Given the description of an element on the screen output the (x, y) to click on. 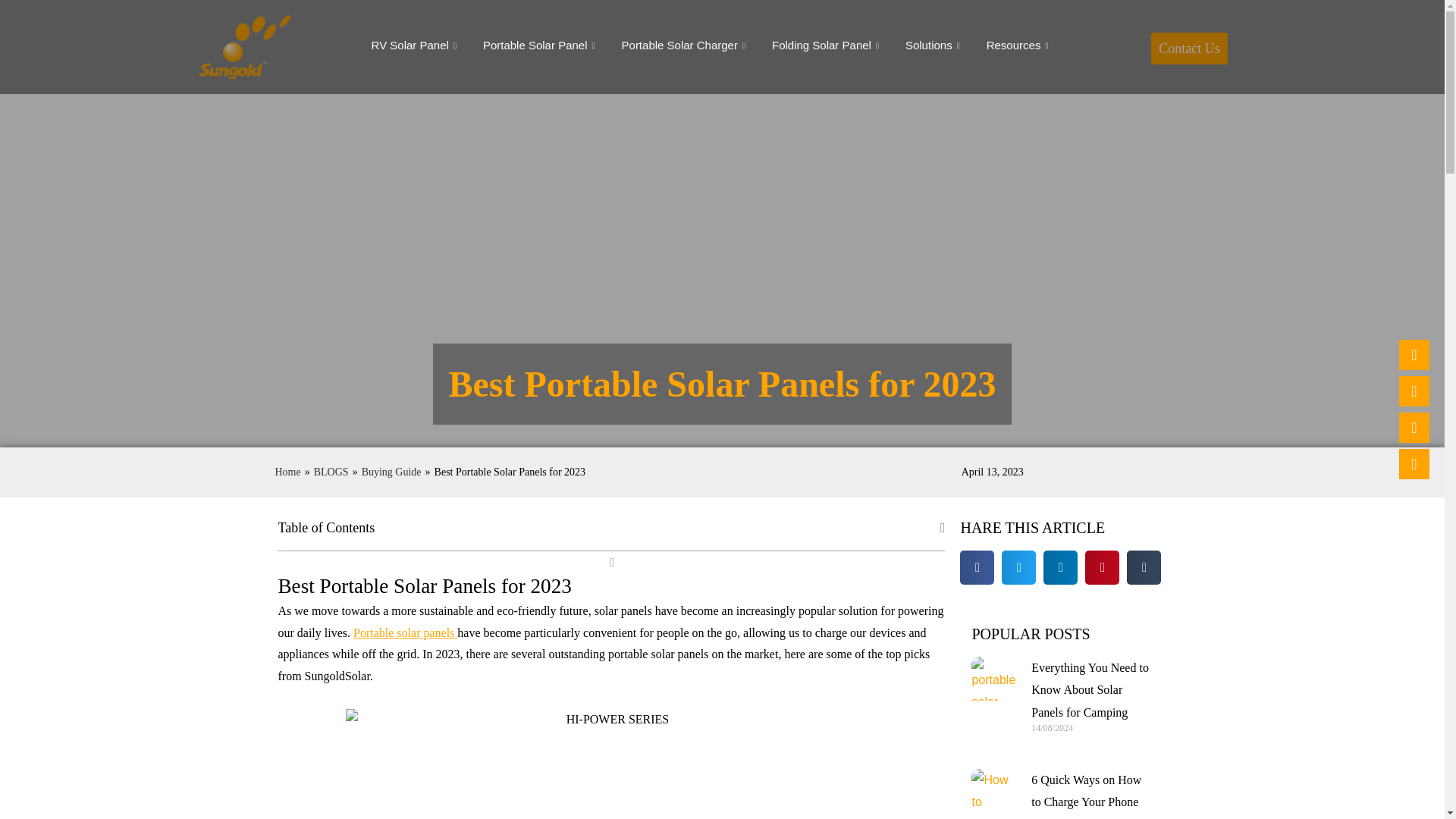
 86 15277534413 (1414, 463)
 86 15277534413 (1414, 427)
Portable Solar Panel (540, 45)
RV Solar Panel (415, 45)
Portable Solar Charger (685, 45)
Folding Solar Panel (826, 45)
